Given the description of an element on the screen output the (x, y) to click on. 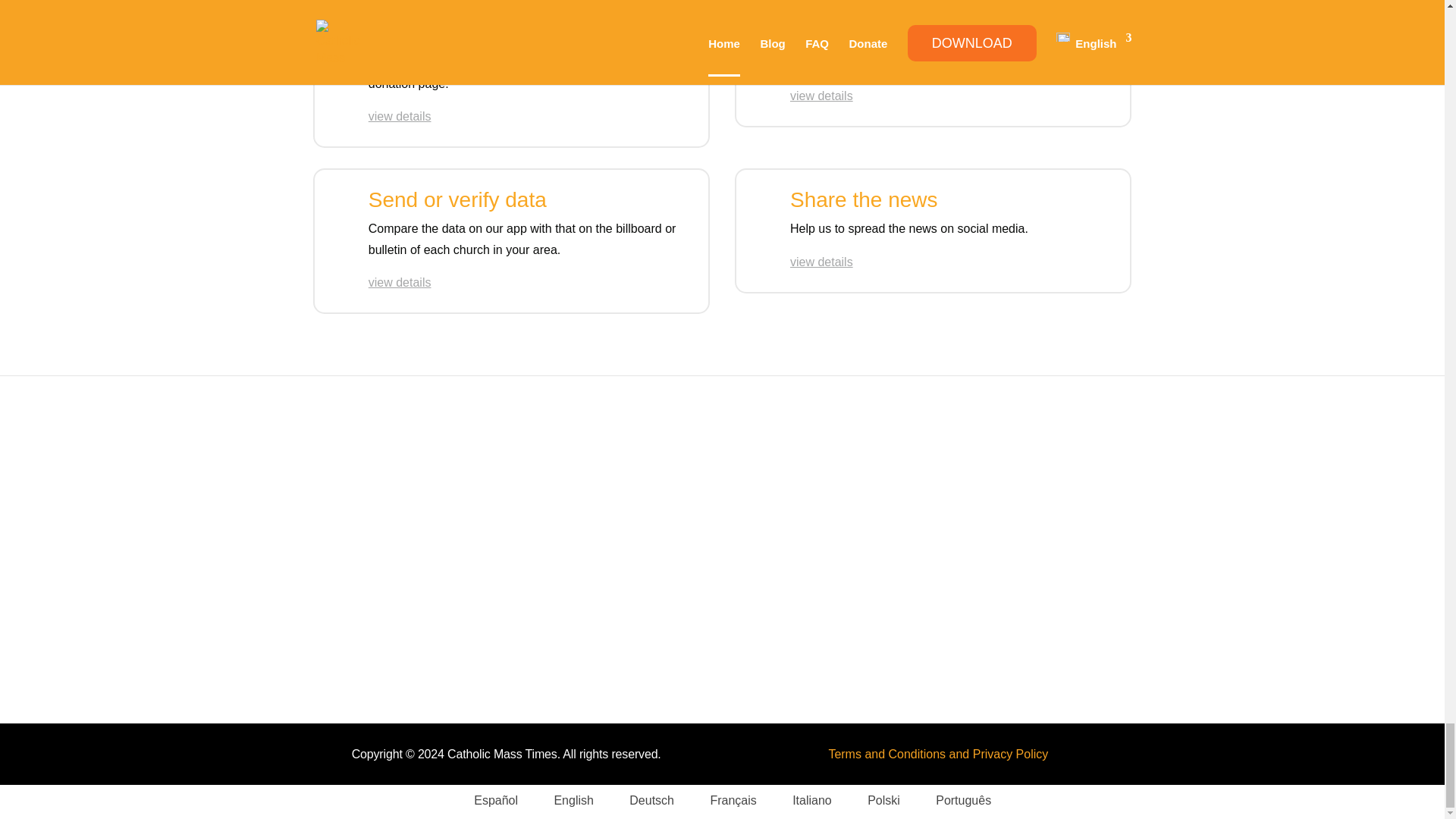
view details (821, 261)
view details (399, 115)
view details (821, 95)
view details (399, 282)
